Given the description of an element on the screen output the (x, y) to click on. 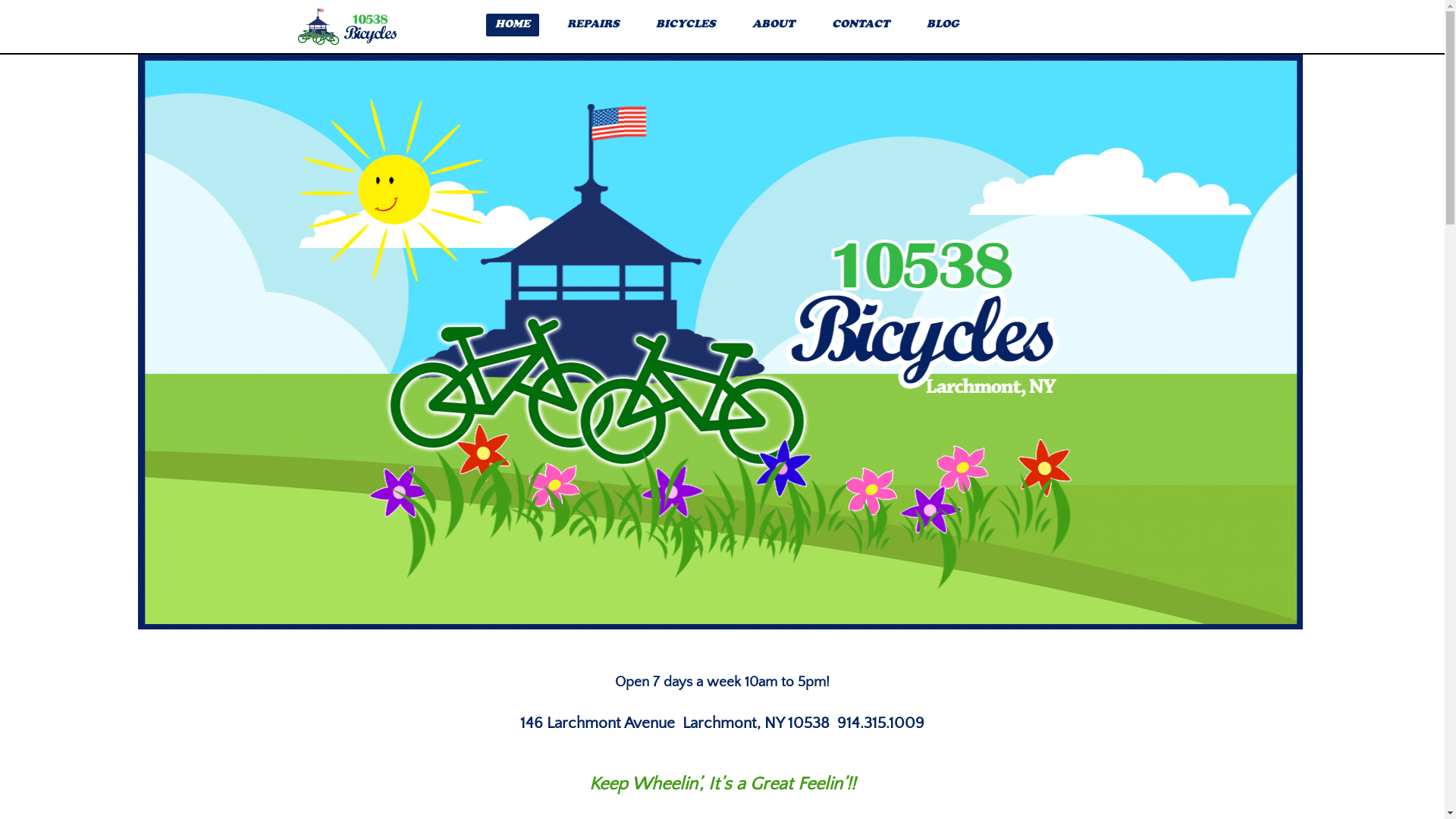
914.315.1009 Element type: text (880, 722)
CONTACT Element type: text (860, 24)
ABOUT Element type: text (773, 24)
HOME Element type: text (512, 24)
10538 Bicycles Element type: hover (346, 26)
BLOG Element type: text (942, 24)
BICYCLES Element type: text (685, 24)
REPAIRS Element type: text (592, 24)
